Given the description of an element on the screen output the (x, y) to click on. 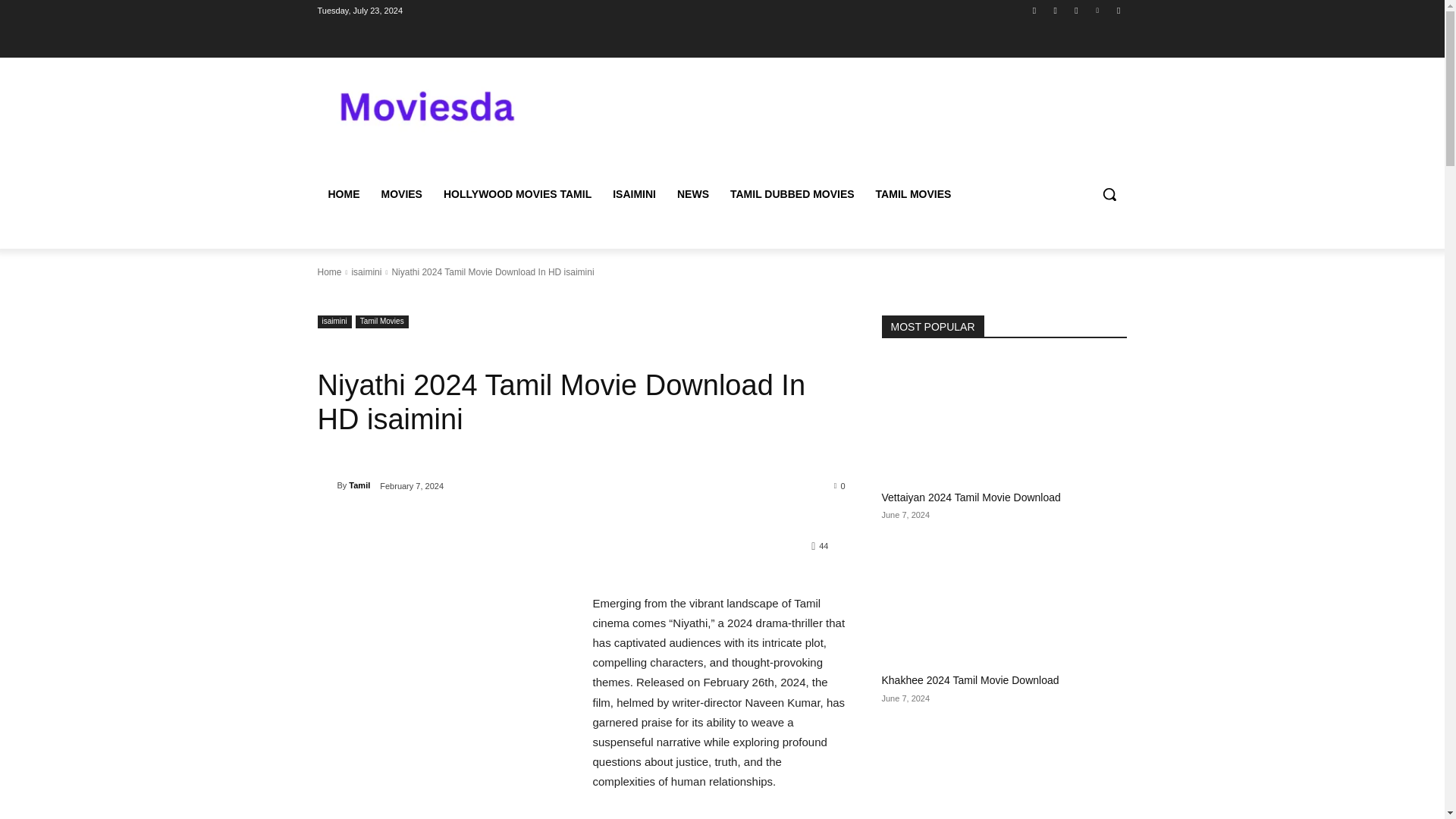
HOLLYWOOD MOVIES TAMIL (517, 194)
ISAIMINI (634, 194)
MOVIES (400, 194)
View all posts in isaimini (365, 271)
0 (839, 484)
Home (328, 271)
Tamil Movies (382, 321)
TAMIL MOVIES (913, 194)
Tamil (359, 485)
TAMIL DUBBED MOVIES (791, 194)
isaimini (333, 321)
Vimeo (1097, 9)
isaimini (365, 271)
Tamil (326, 485)
NEWS (692, 194)
